Given the description of an element on the screen output the (x, y) to click on. 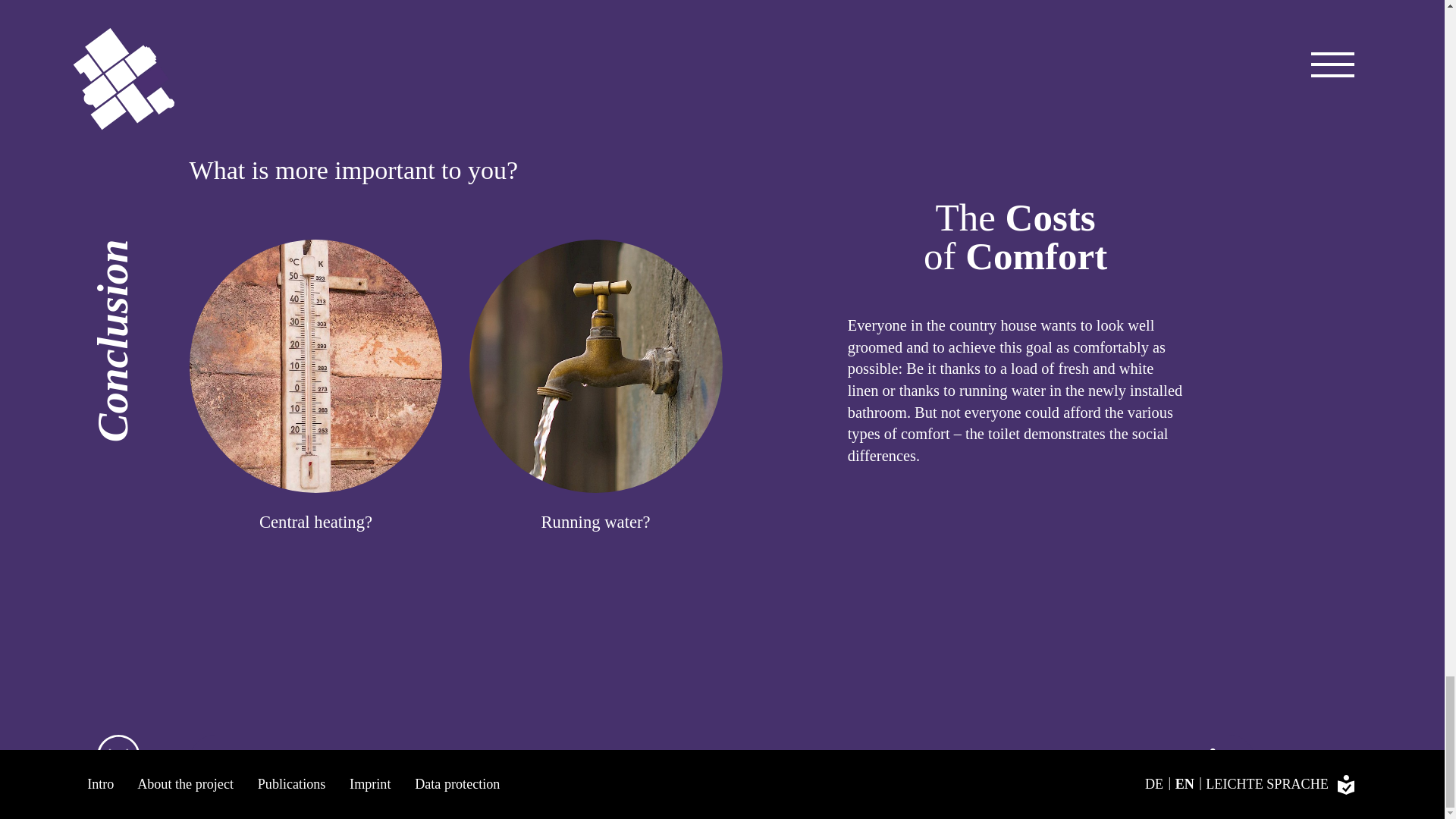
LEICHTE SPRACHE  (1280, 783)
Publications (291, 783)
About the project (184, 783)
Imprint (369, 783)
DE (1158, 783)
Data protection (456, 783)
EN (1188, 783)
Intro (100, 783)
